Given the description of an element on the screen output the (x, y) to click on. 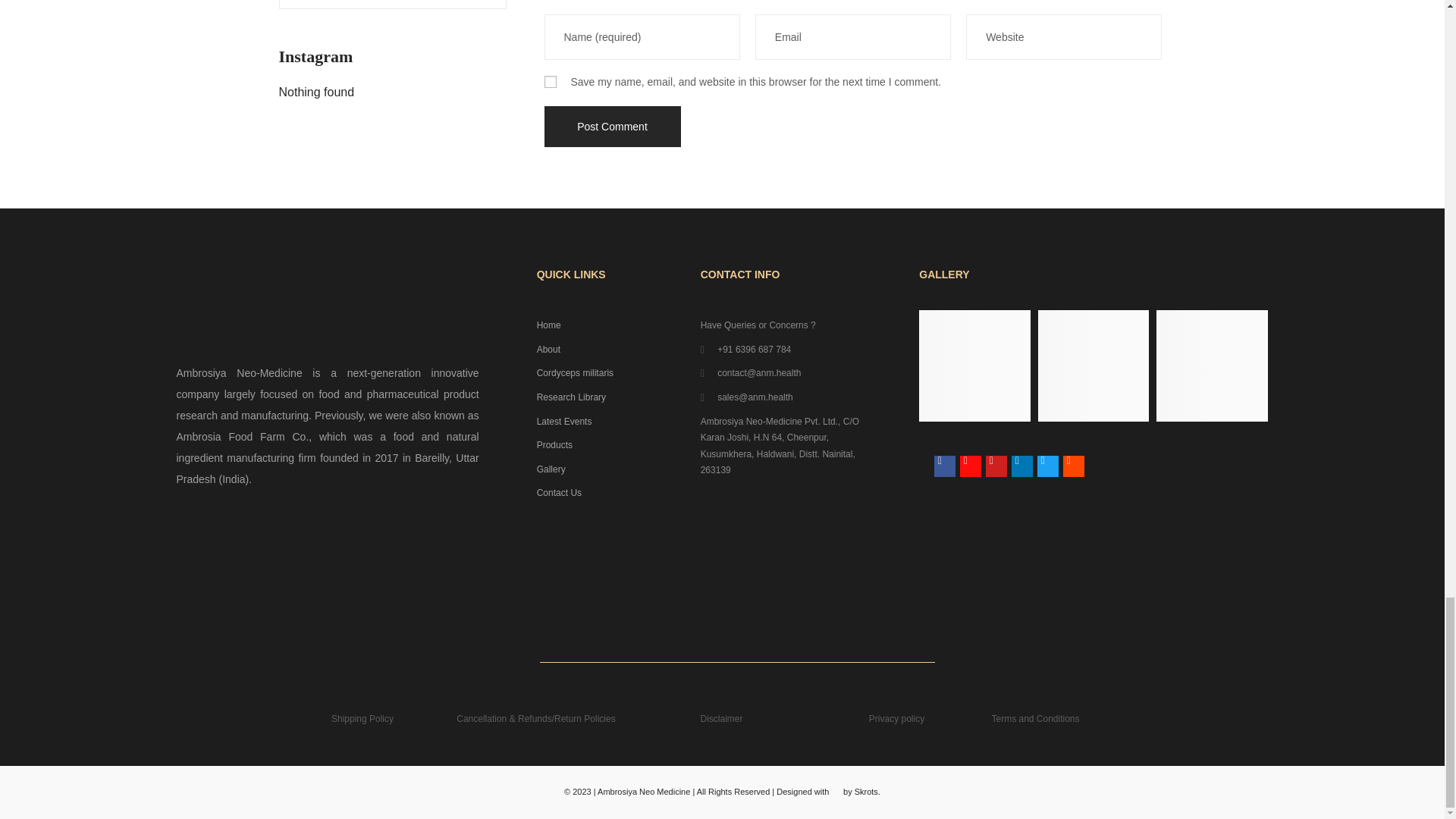
Post Comment (612, 126)
yes (550, 81)
